Given the description of an element on the screen output the (x, y) to click on. 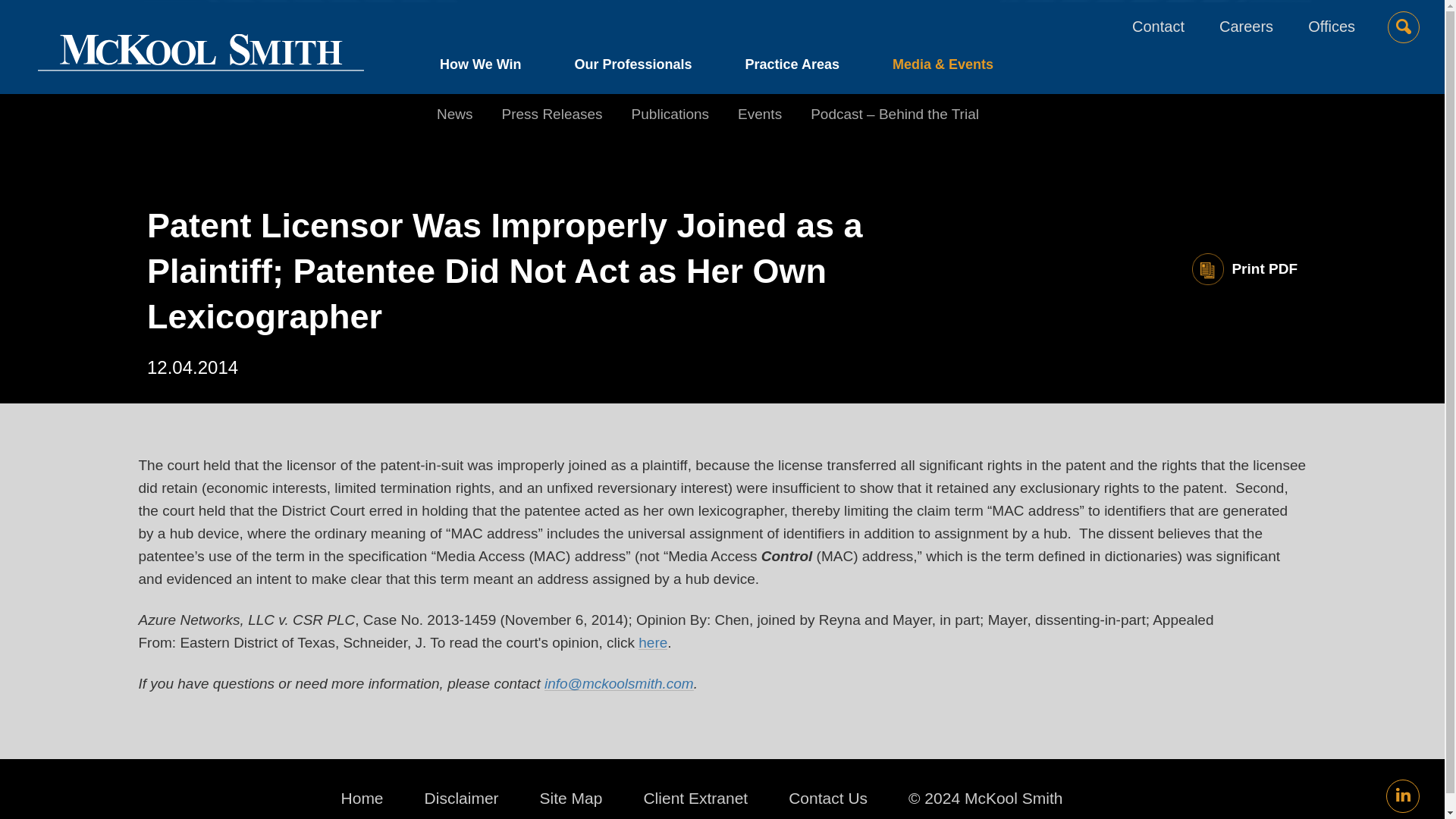
Main Content (667, 19)
Practice Areas (792, 68)
Menu (674, 19)
Our Professionals (632, 68)
How We Win (493, 68)
Main Menu (674, 19)
